Given the description of an element on the screen output the (x, y) to click on. 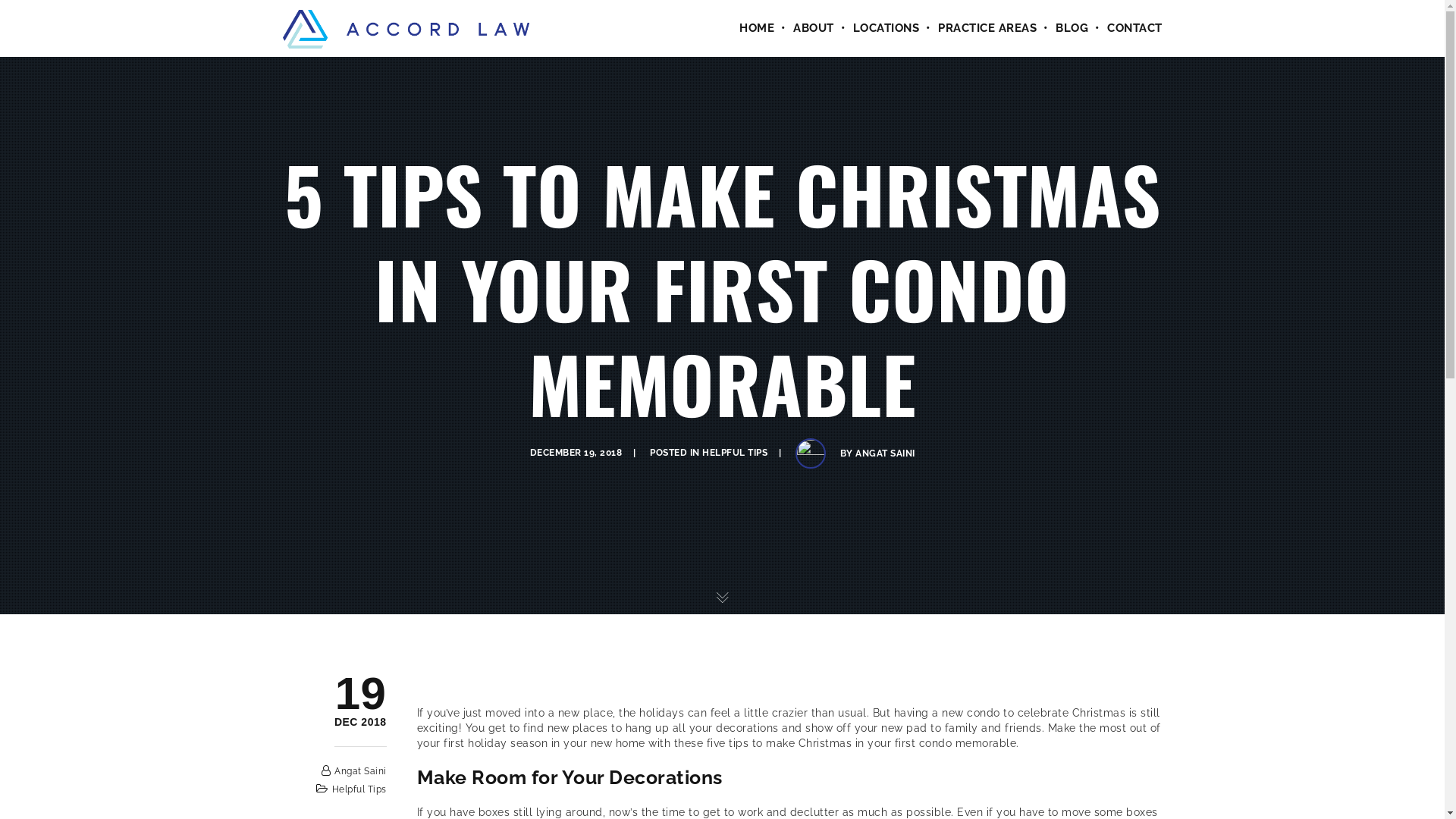
Helpful Tips Element type: text (359, 789)
Angat Saini Element type: text (360, 770)
BLOG Element type: text (1062, 28)
HELPFUL TIPS Element type: text (734, 452)
LOCATIONS Element type: text (876, 28)
ABOUT Element type: text (804, 28)
19
DEC 2018 Element type: text (360, 722)
ANGAT SAINI Element type: text (885, 452)
HOME Element type: text (747, 28)
PRACTICE AREAS Element type: text (977, 28)
CONTACT Element type: text (1125, 28)
Accord Law Element type: hover (405, 27)
